Given the description of an element on the screen output the (x, y) to click on. 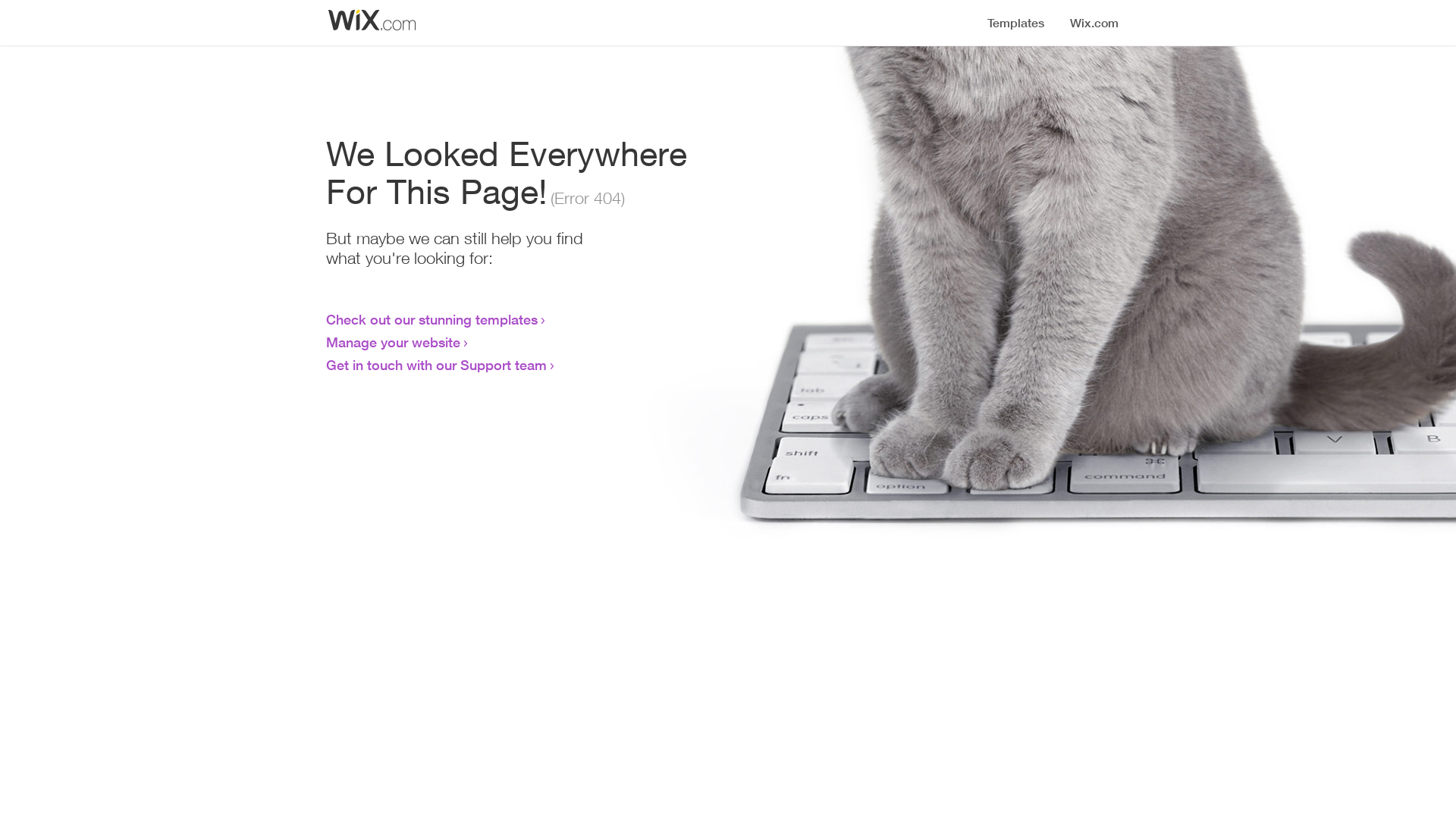
Manage your website Element type: text (393, 341)
Check out our stunning templates Element type: text (431, 318)
Get in touch with our Support team Element type: text (436, 364)
